Given the description of an element on the screen output the (x, y) to click on. 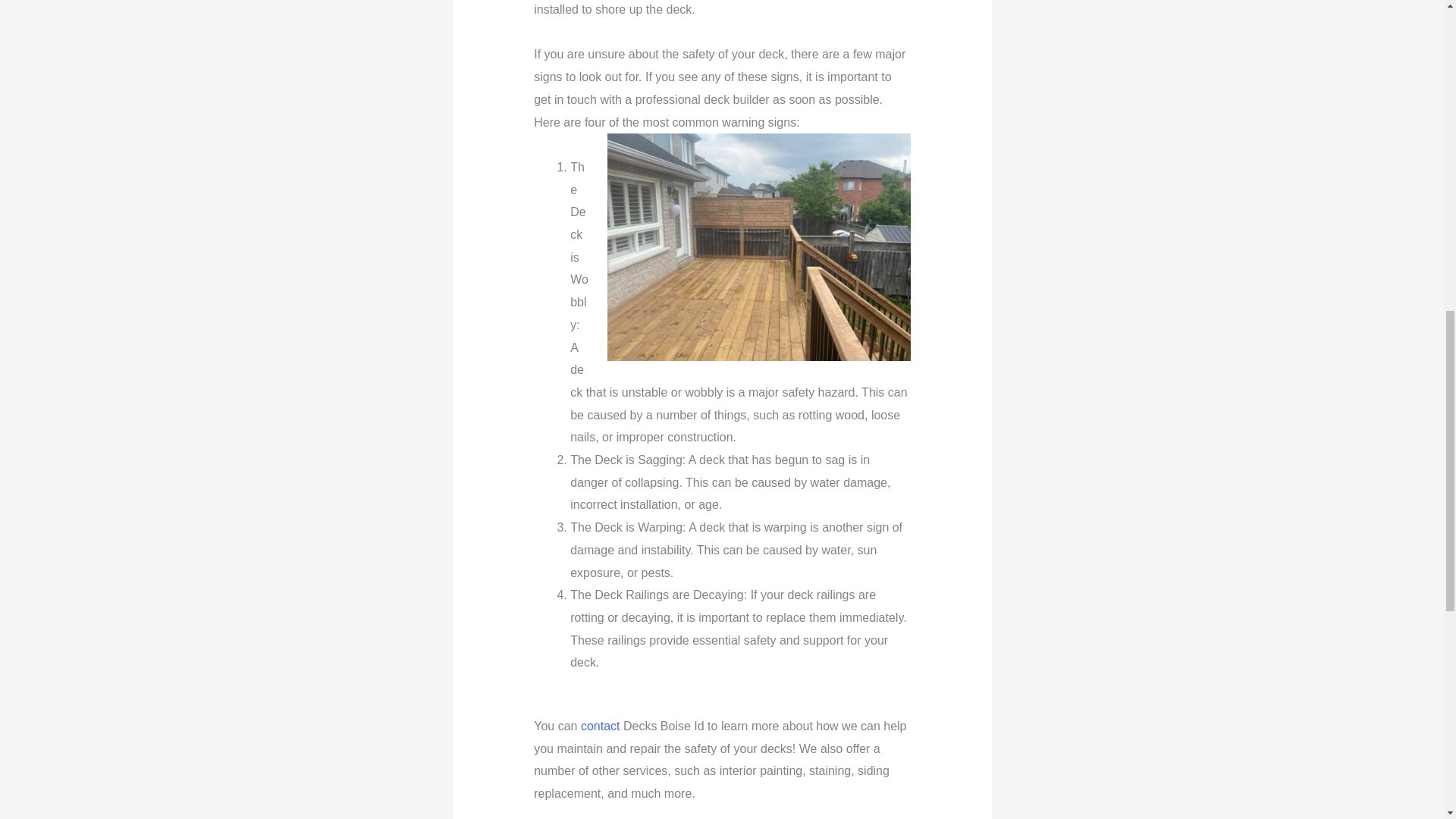
contact (600, 725)
